Given the description of an element on the screen output the (x, y) to click on. 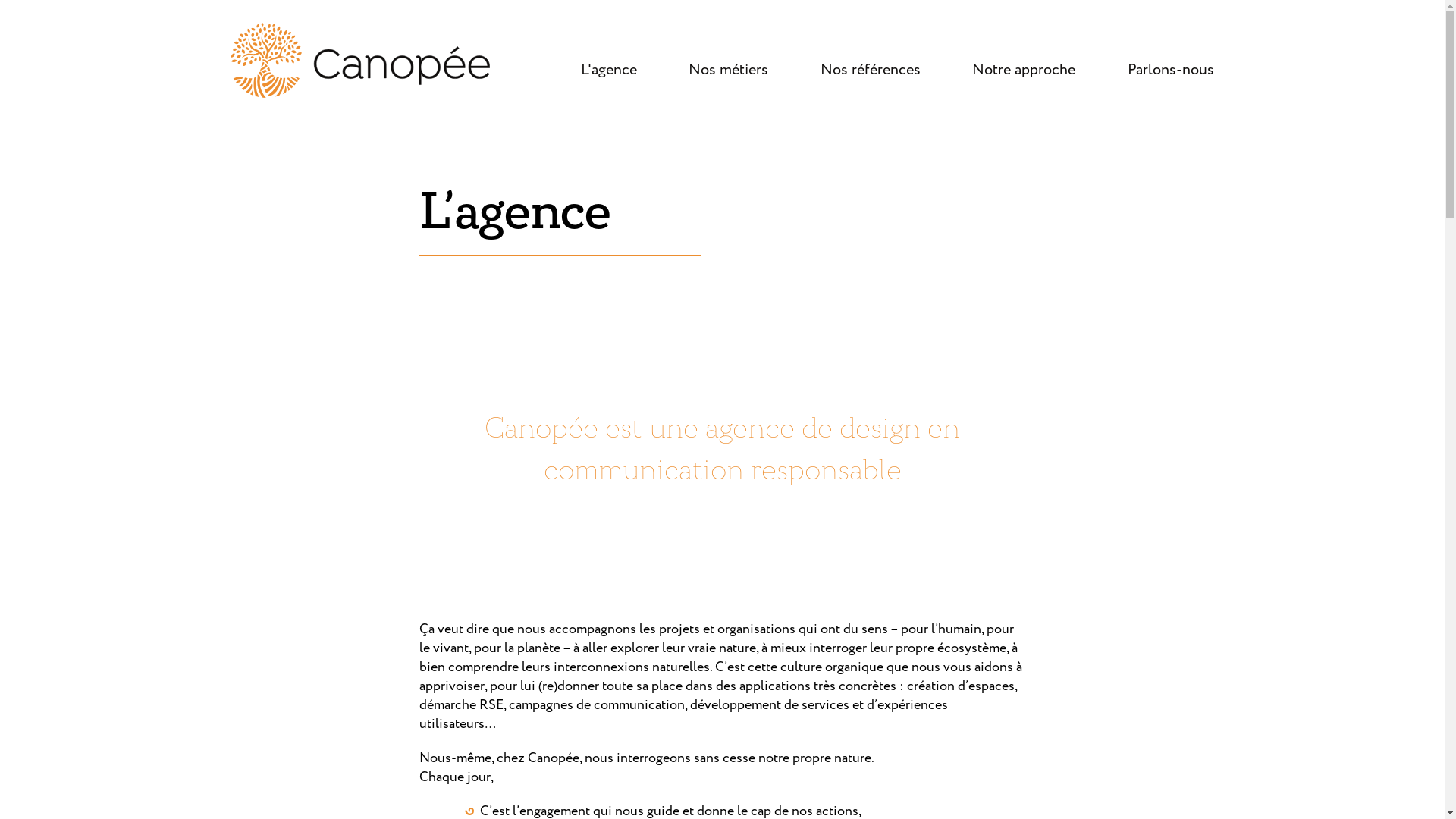
L'agence Element type: text (608, 70)
Notre approche Element type: text (1023, 70)
Parlons-nous Element type: text (1169, 70)
